Given the description of an element on the screen output the (x, y) to click on. 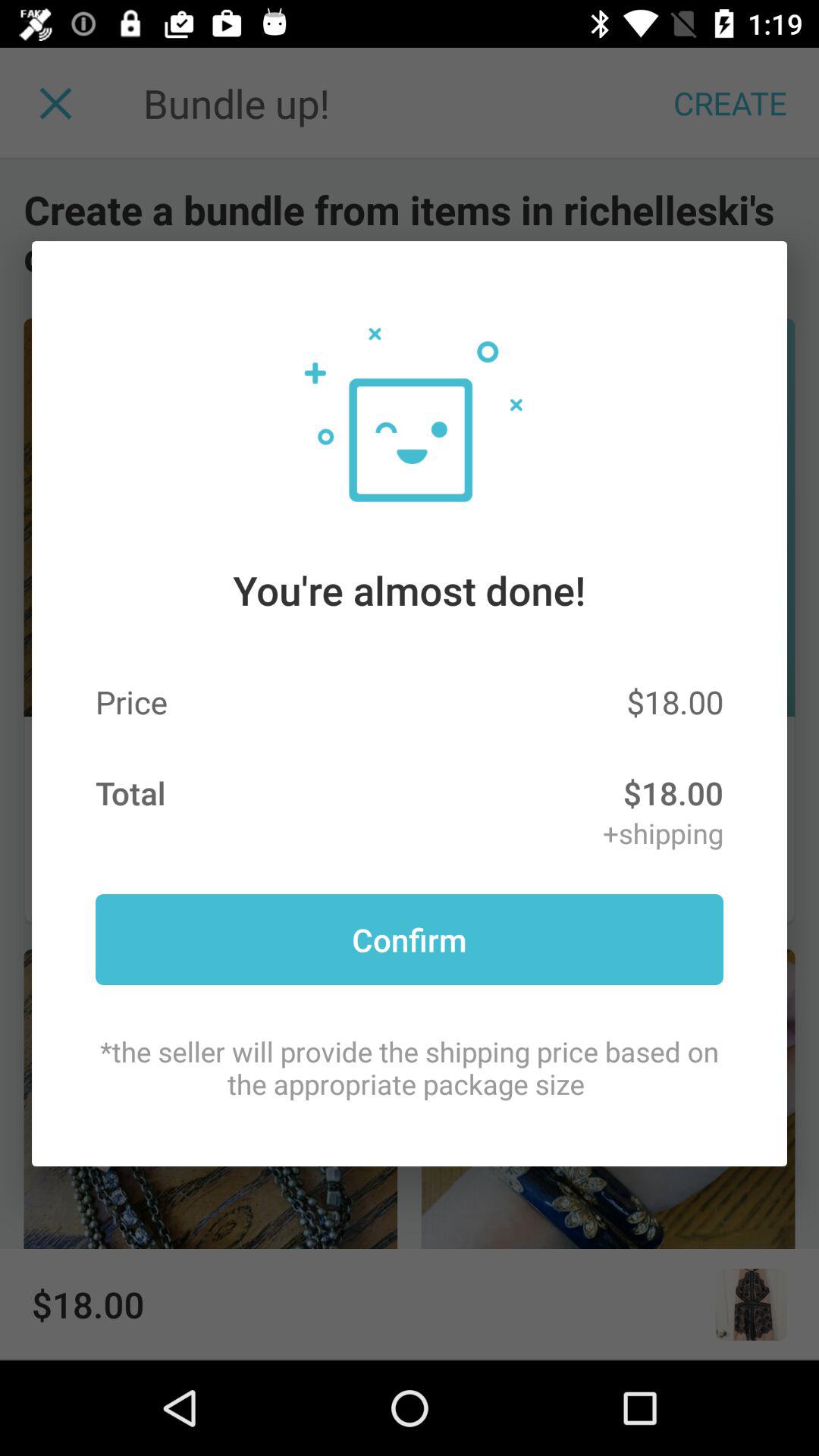
turn off the confirm (409, 939)
